Given the description of an element on the screen output the (x, y) to click on. 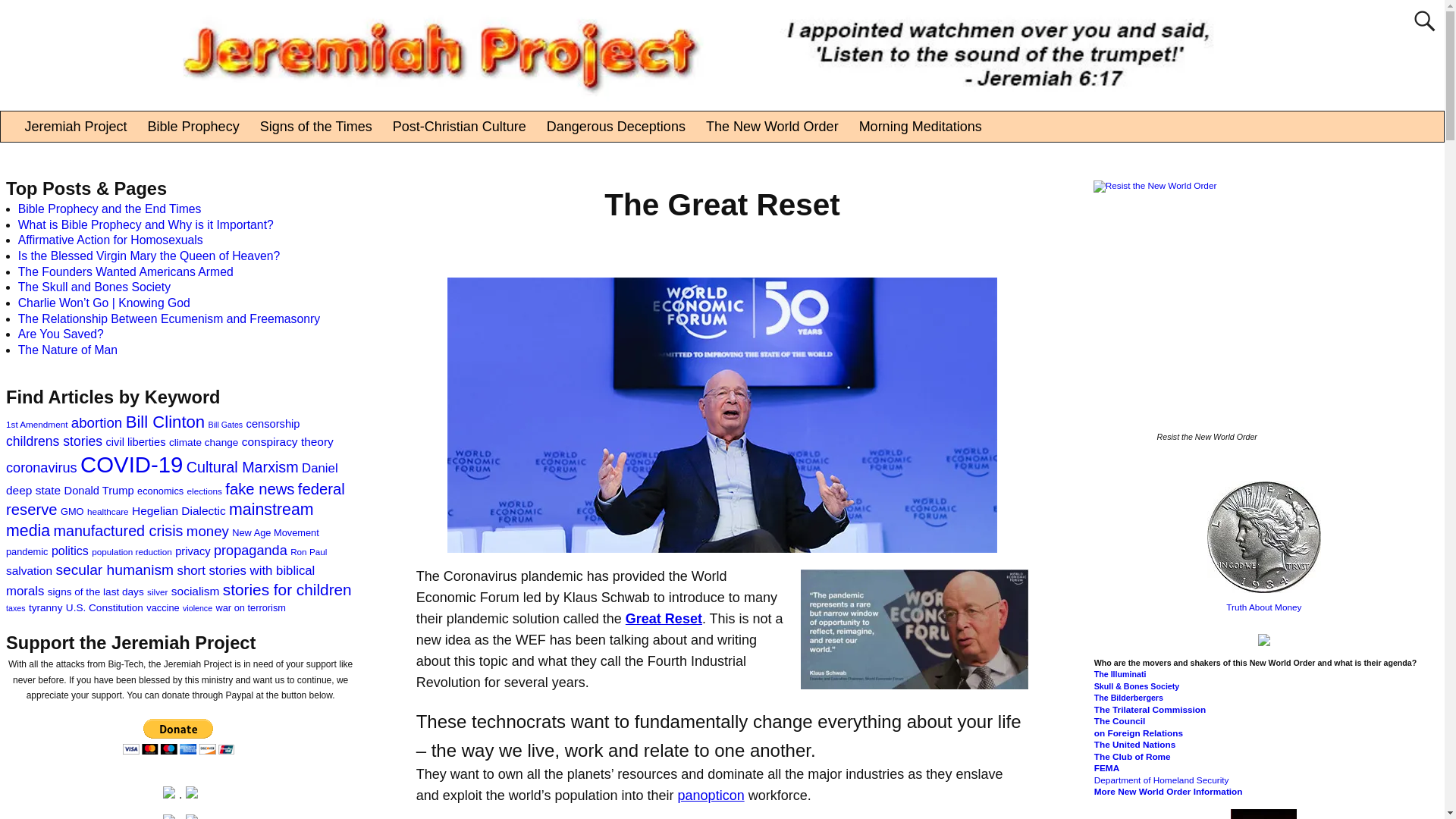
Signs of the Times (314, 126)
Great Reset (663, 618)
Post-Christian Culture (458, 126)
Jeremiah Project (75, 126)
Bible Prophecy (192, 126)
The New World Order (771, 126)
panopticon (711, 795)
Dangerous Deceptions (615, 126)
Morning Meditations (919, 126)
